Given the description of an element on the screen output the (x, y) to click on. 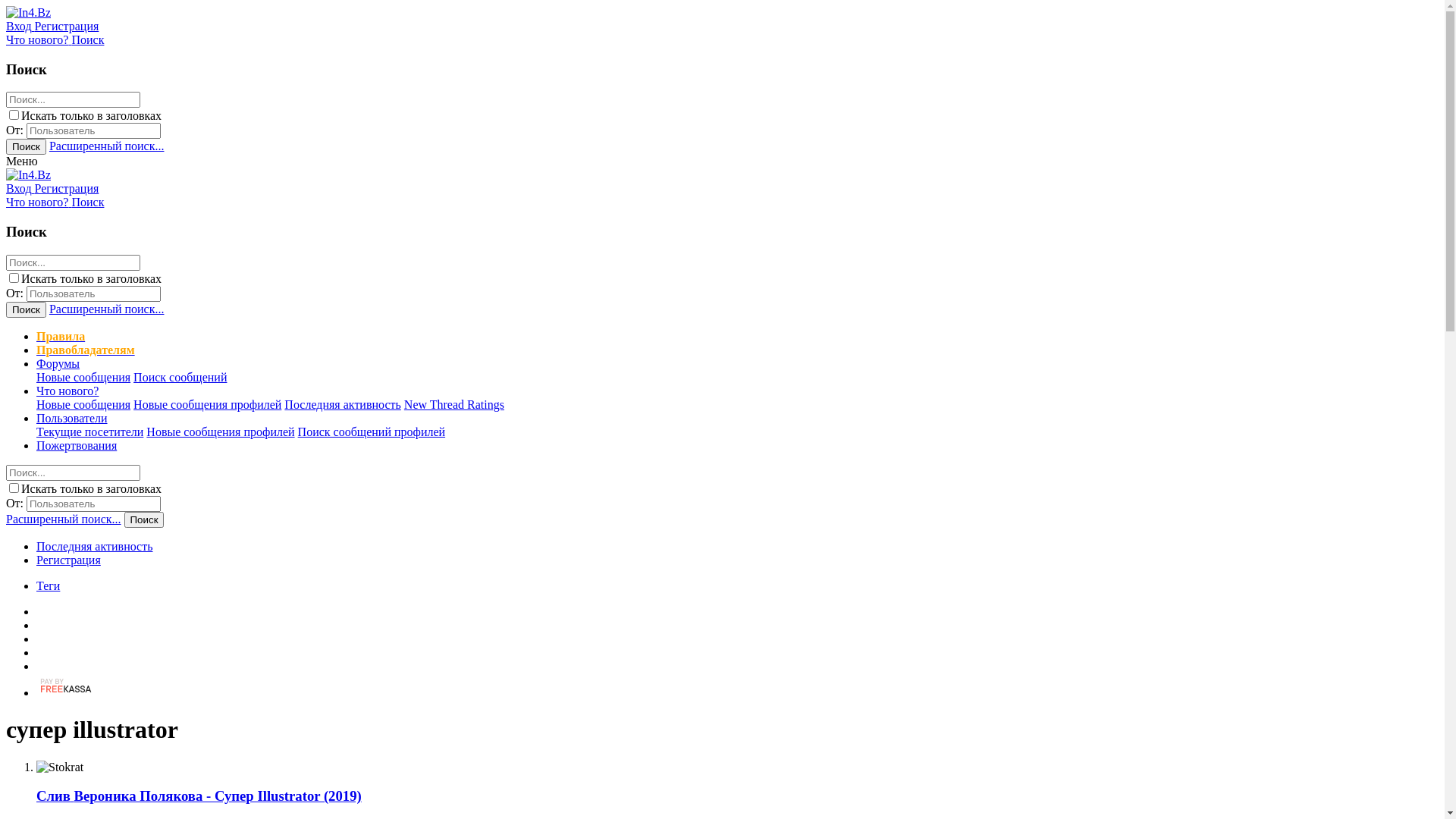
New Thread Ratings Element type: text (454, 404)
